Given the description of an element on the screen output the (x, y) to click on. 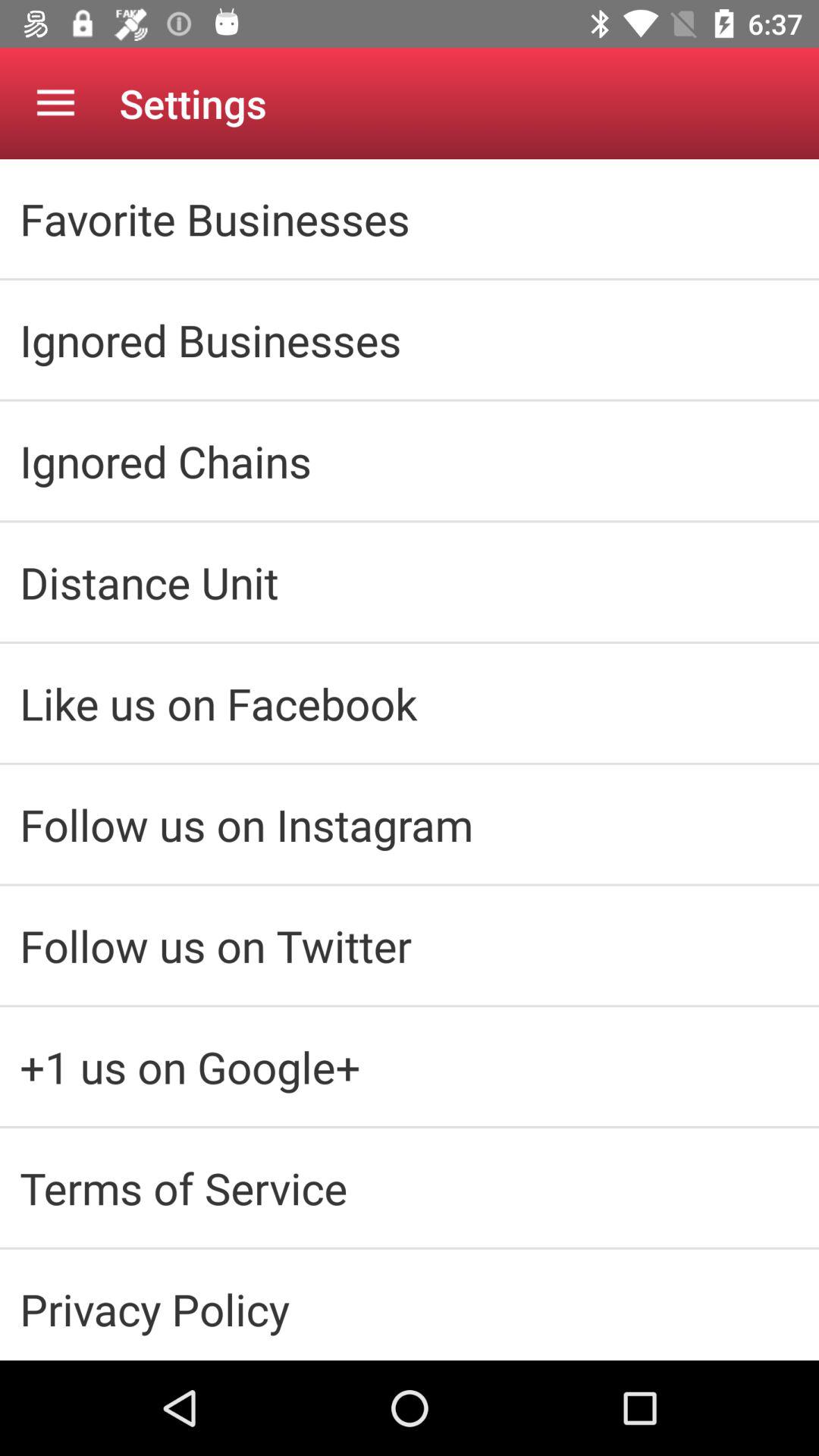
turn on icon above the ignored chains item (409, 339)
